Given the description of an element on the screen output the (x, y) to click on. 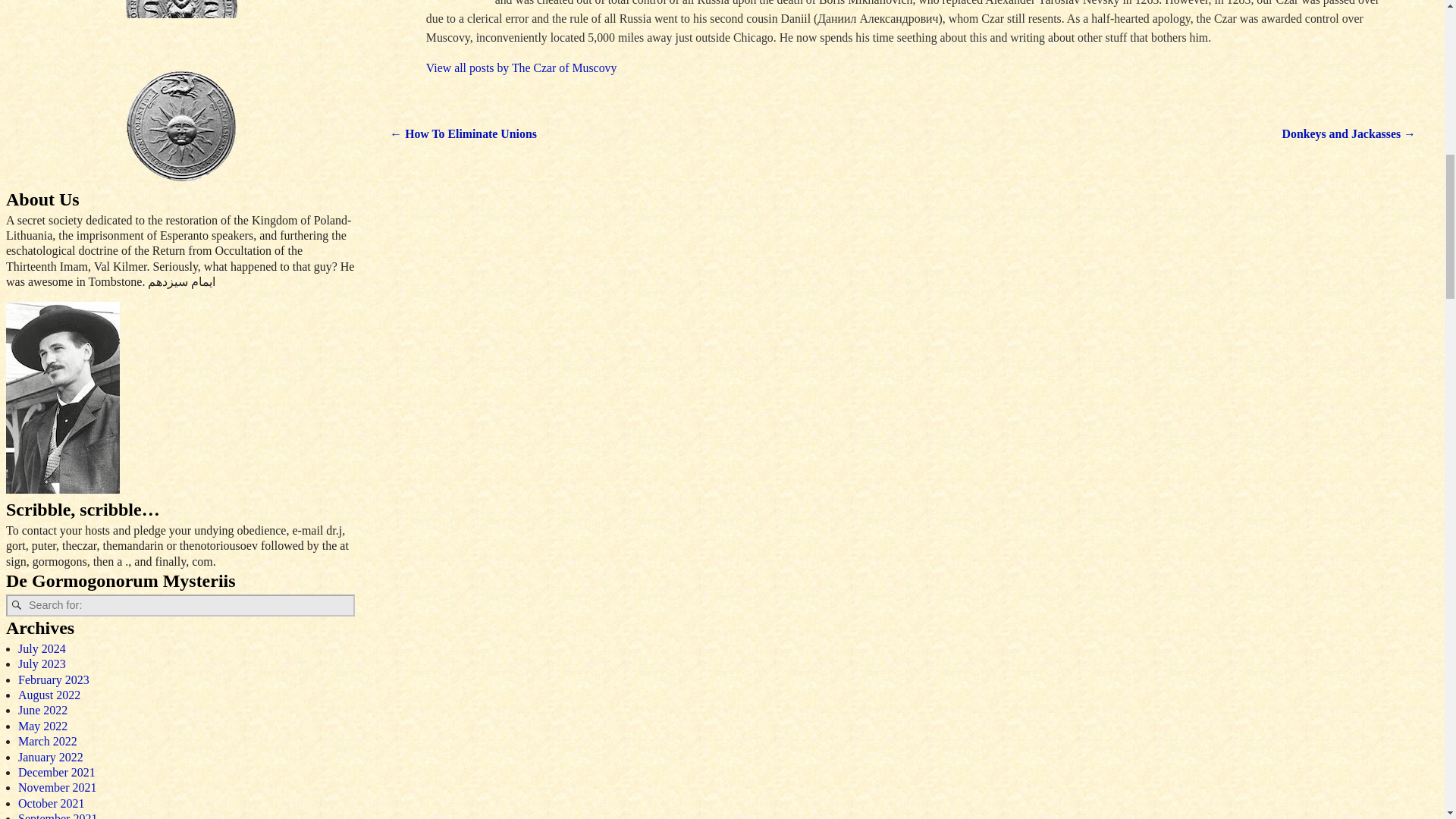
June 2022 (41, 709)
July 2023 (41, 663)
December 2021 (56, 771)
August 2022 (48, 694)
February 2023 (52, 679)
March 2022 (47, 740)
May 2022 (41, 725)
January 2022 (49, 757)
November 2021 (57, 787)
October 2021 (50, 802)
July 2024 (41, 648)
September 2021 (57, 815)
View all posts by The Czar of Muscovy (521, 67)
